Given the description of an element on the screen output the (x, y) to click on. 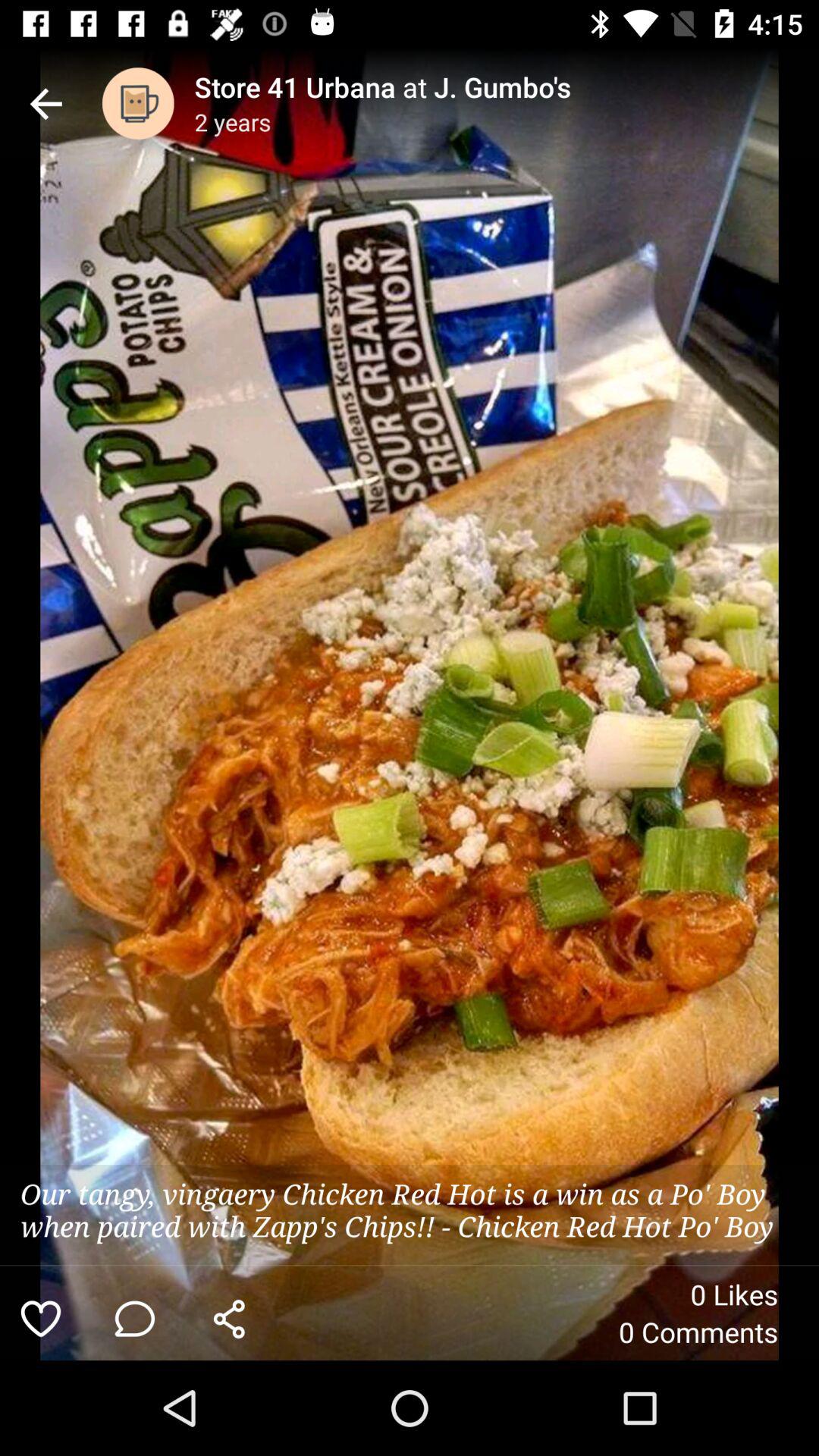
turn on the item at the center (409, 703)
